Given the description of an element on the screen output the (x, y) to click on. 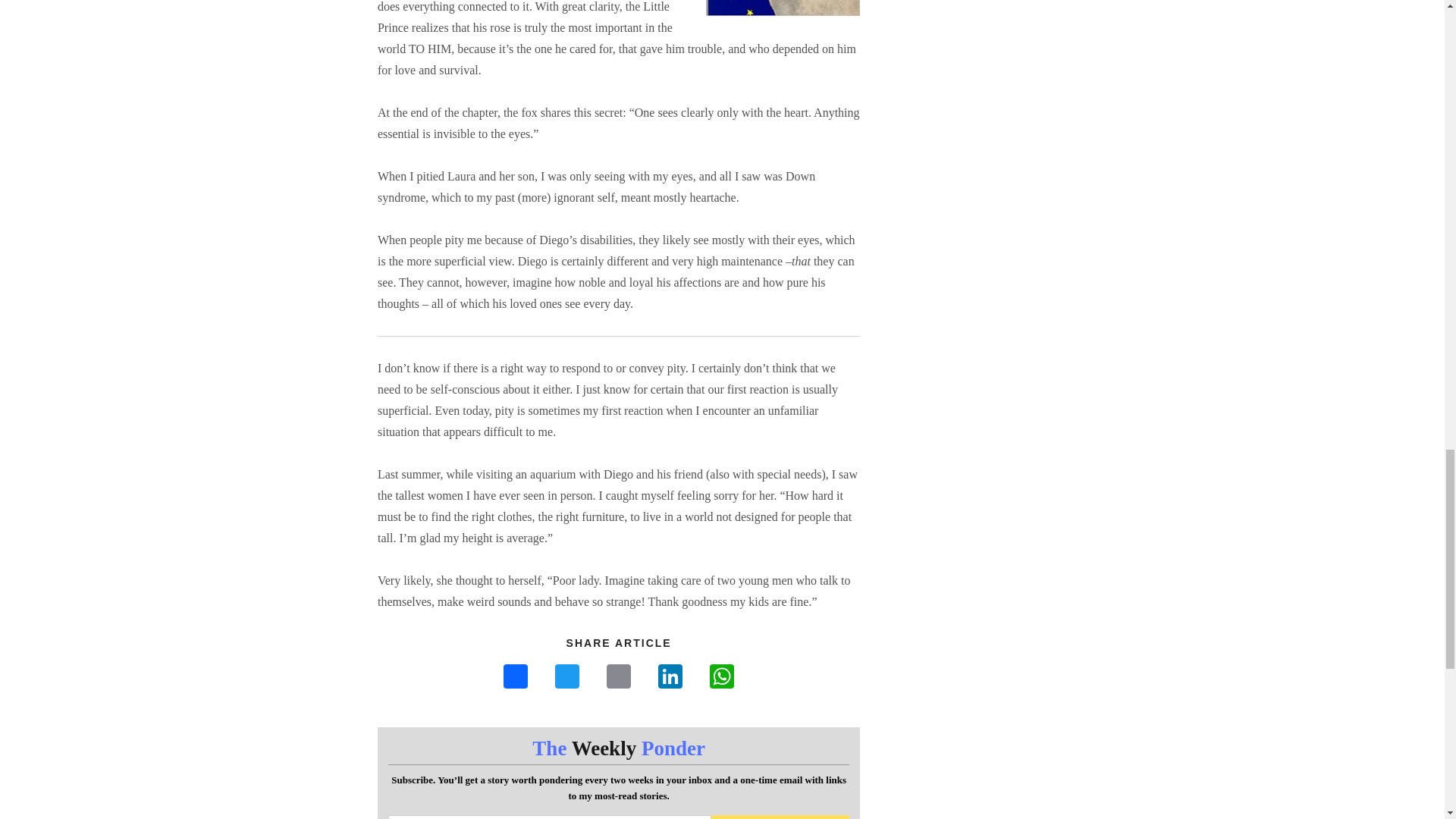
Subscribe (780, 816)
Facebook (515, 678)
Subscribe (780, 816)
LinkedIn (670, 678)
LinkedIn (670, 678)
WhatsApp (721, 678)
Facebook (515, 678)
Twitter (566, 678)
Twitter (566, 678)
WhatsApp (721, 678)
Email (618, 678)
Email (618, 678)
